Given the description of an element on the screen output the (x, y) to click on. 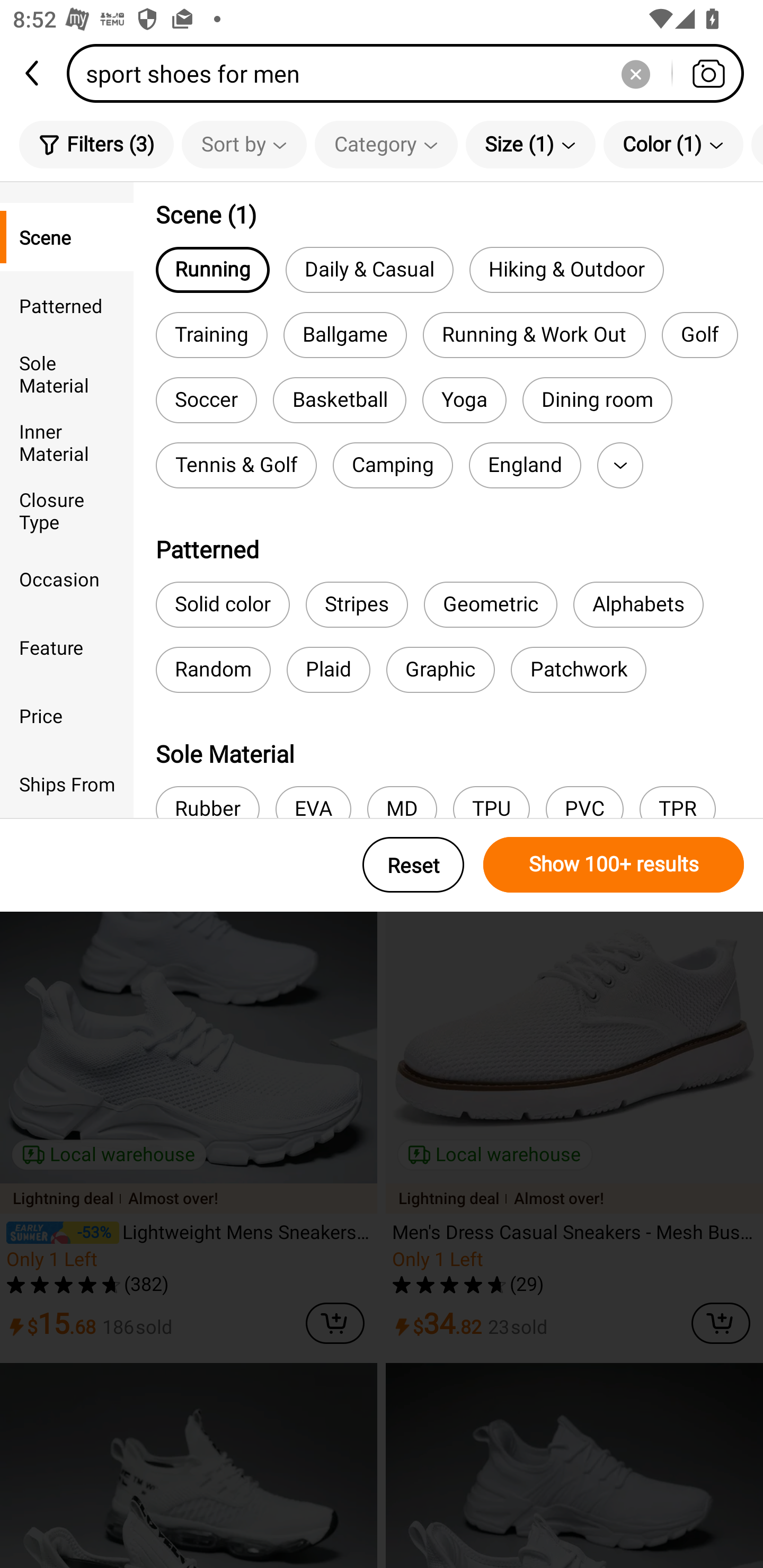
back (33, 72)
sport shoes for men (411, 73)
Delete search history (635, 73)
Search by photo (708, 73)
Filters (3) (96, 143)
Sort by (243, 143)
Category (385, 143)
Size (1) (530, 143)
Color (1) (673, 143)
Scene (66, 236)
Running (212, 269)
Daily & Casual (369, 269)
Hiking & Outdoor (566, 269)
Patterned (66, 305)
Training (211, 334)
Ballgame (344, 334)
Running & Work Out (534, 334)
Golf (699, 334)
Sole Material (66, 373)
Soccer (206, 400)
Basketball (339, 400)
Yoga (463, 400)
Dining room (597, 400)
Inner Material (66, 441)
Tennis & Golf (235, 464)
Camping (392, 464)
England (525, 464)
More (620, 464)
Closure Type (66, 510)
Occasion (66, 578)
Solid color (222, 604)
Stripes (356, 604)
Geometric (490, 604)
Alphabets (638, 604)
Feature (66, 646)
Random (212, 669)
Plaid (328, 669)
Graphic (440, 669)
Patchwork (578, 669)
Price (66, 714)
Ships From (66, 783)
Rubber (207, 801)
EVA (312, 801)
MD (402, 801)
TPU (491, 801)
PVC (584, 801)
TPR (677, 801)
Reset (412, 864)
Show 100+ results (612, 864)
